Given the description of an element on the screen output the (x, y) to click on. 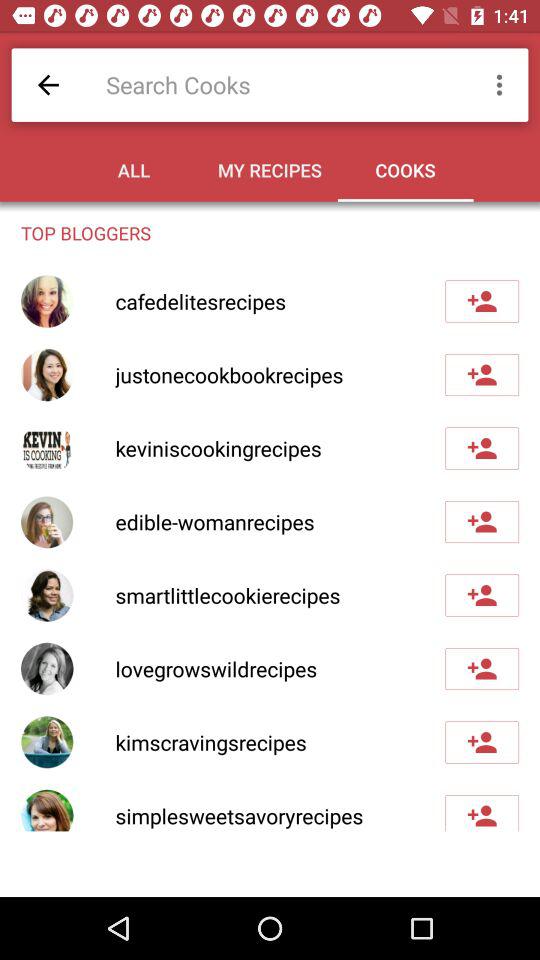
follow (482, 669)
